Given the description of an element on the screen output the (x, y) to click on. 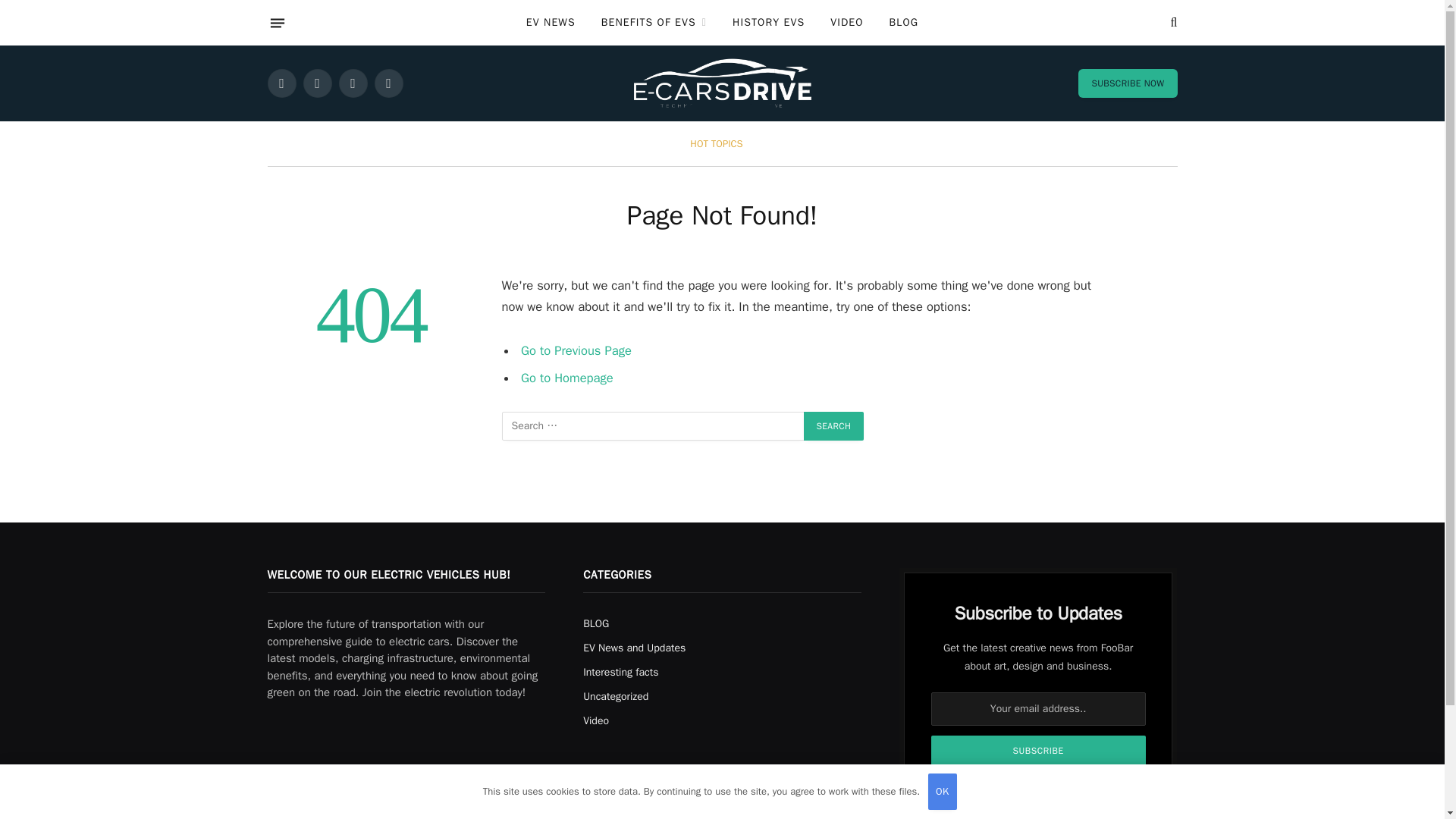
Go to Previous Page (576, 350)
VIDEO (846, 22)
Subscribe (1038, 750)
Search (833, 425)
Ecars Drive (721, 83)
BENEFITS OF EVS (653, 22)
HISTORY EVS (767, 22)
BLOG (903, 22)
Search (833, 425)
on (939, 787)
SUBSCRIBE NOW (1127, 82)
EV NEWS (550, 22)
Instagram (351, 82)
Facebook (280, 82)
Pinterest (388, 82)
